Given the description of an element on the screen output the (x, y) to click on. 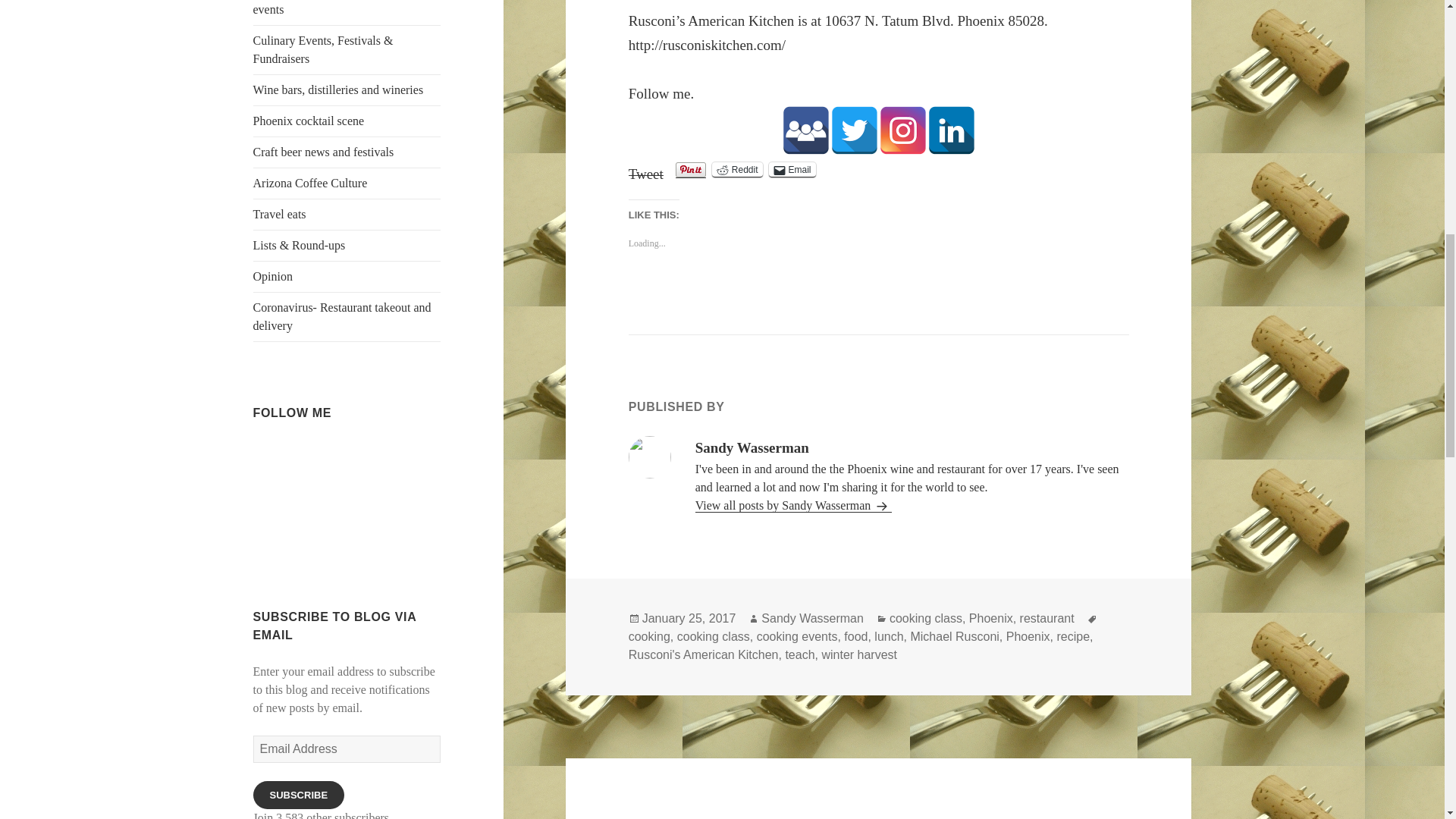
Arizona Coffee Culture (347, 183)
Click to share on Reddit (736, 169)
Wine bars, distilleries and wineries (347, 90)
SUBSCRIBE (299, 795)
LinkedIn (346, 452)
Twitter (854, 130)
Facebook (292, 452)
Twitter (319, 452)
Facebook Group (805, 130)
Phoenix cocktail scene (347, 121)
